Given the description of an element on the screen output the (x, y) to click on. 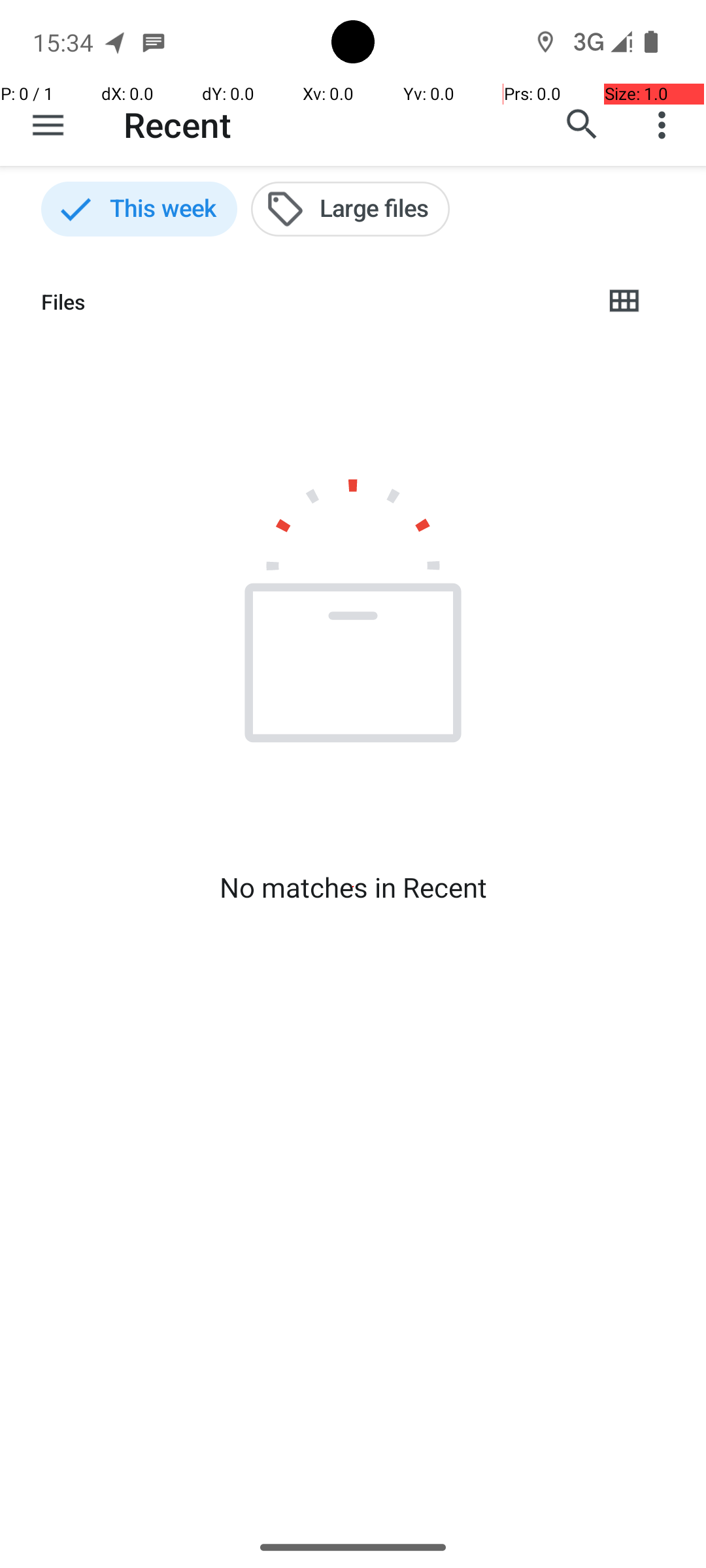
No matches in Recent Element type: android.widget.TextView (353, 886)
